Given the description of an element on the screen output the (x, y) to click on. 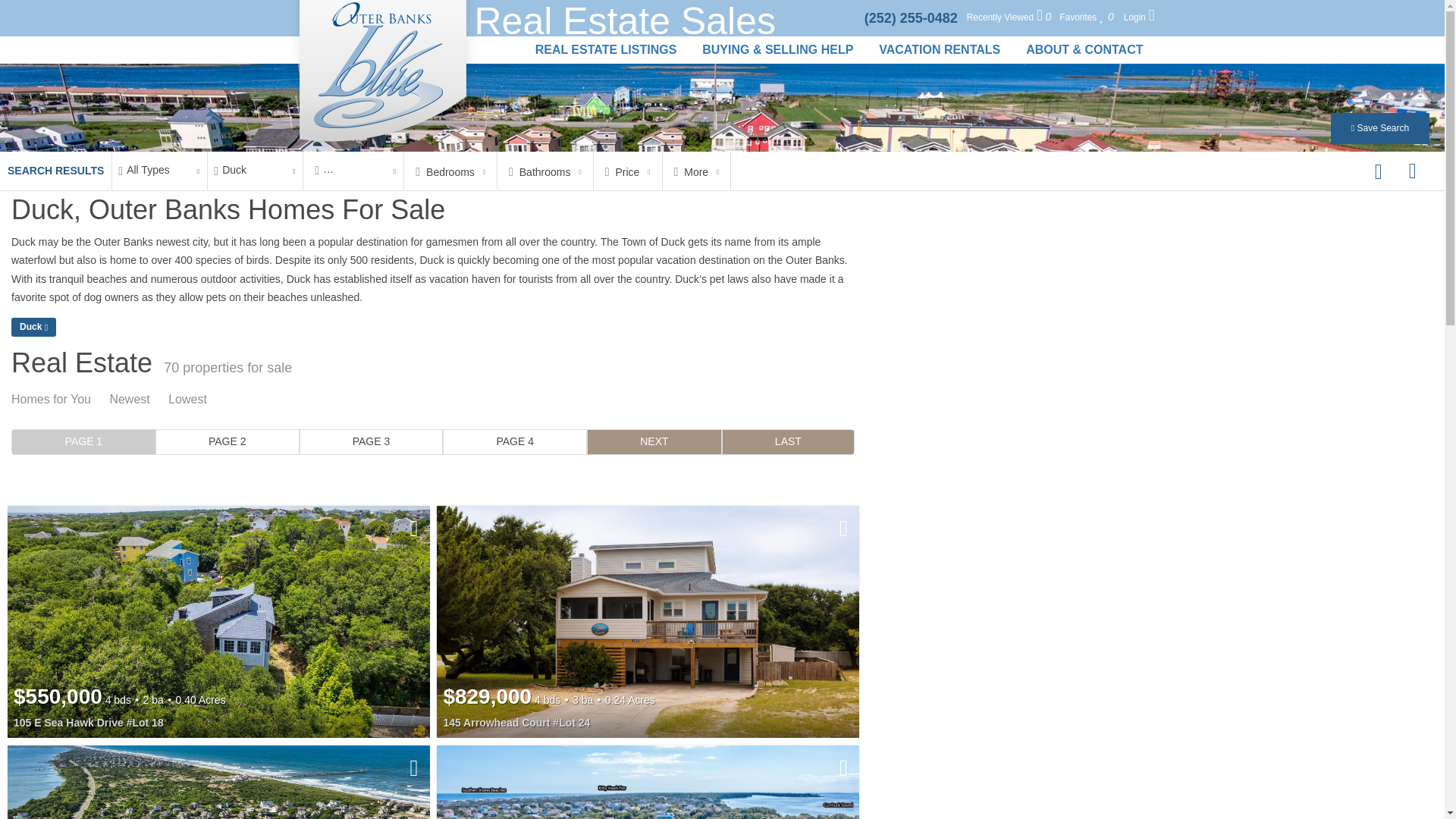
All Types (159, 170)
Favorites 0 (1086, 17)
Acres (352, 170)
REAL ESTATE LISTINGS (606, 49)
Acres (352, 170)
Duck (255, 170)
VACATION RENTALS (939, 49)
Recently Viewed 0 (1008, 17)
Login (1139, 17)
All Types (159, 170)
Duck (255, 170)
Outer Banks Blue Real Estate (382, 76)
